Given the description of an element on the screen output the (x, y) to click on. 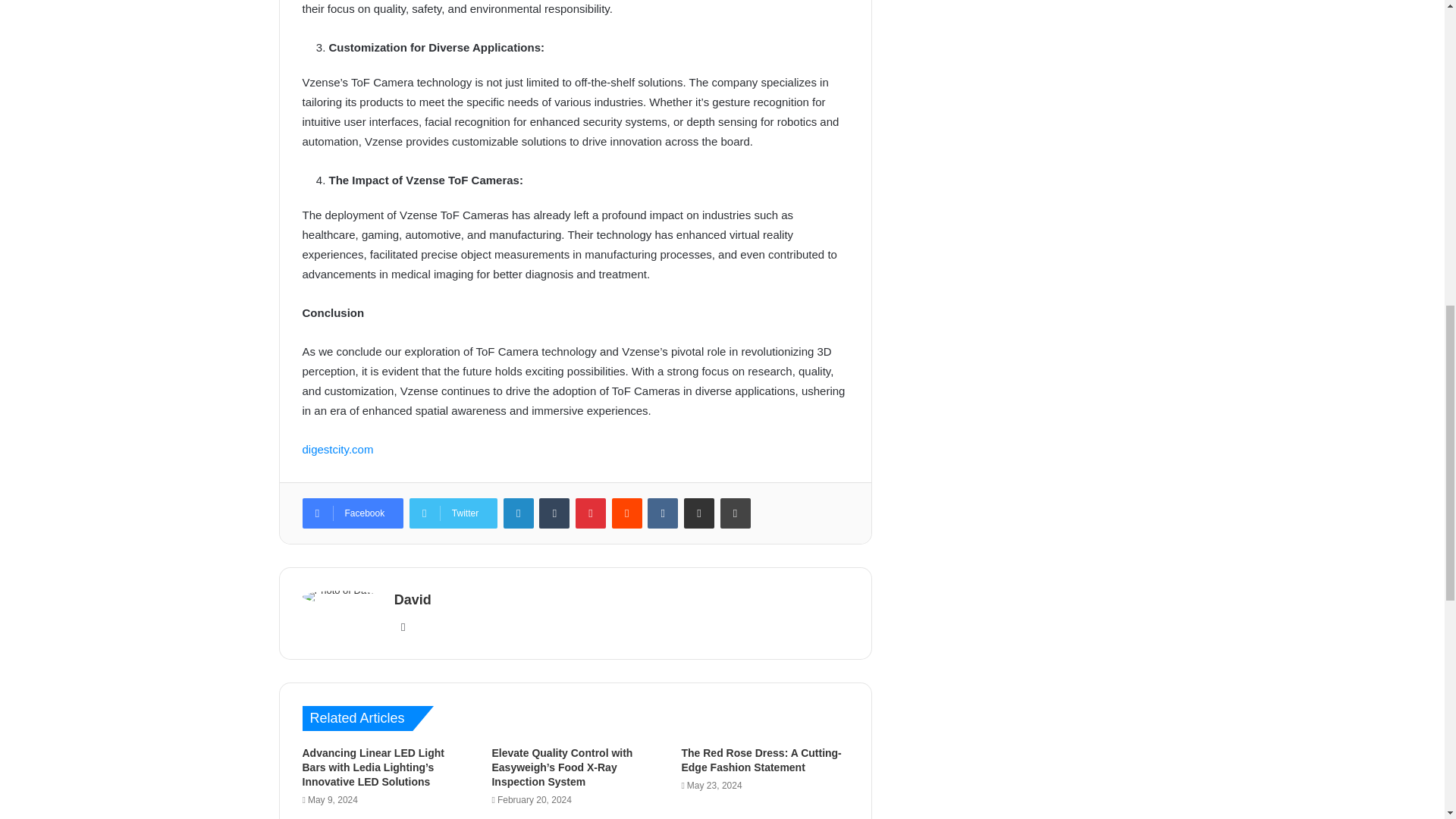
Reddit (626, 512)
VKontakte (662, 512)
Share via Email (699, 512)
Website (403, 627)
Facebook (352, 512)
LinkedIn (518, 512)
digestcity.com (336, 449)
The Red Rose Dress: A Cutting-Edge Fashion Statement (761, 759)
LinkedIn (518, 512)
Tumblr (553, 512)
Share via Email (699, 512)
Print (735, 512)
Tumblr (553, 512)
Reddit (626, 512)
Pinterest (590, 512)
